Given the description of an element on the screen output the (x, y) to click on. 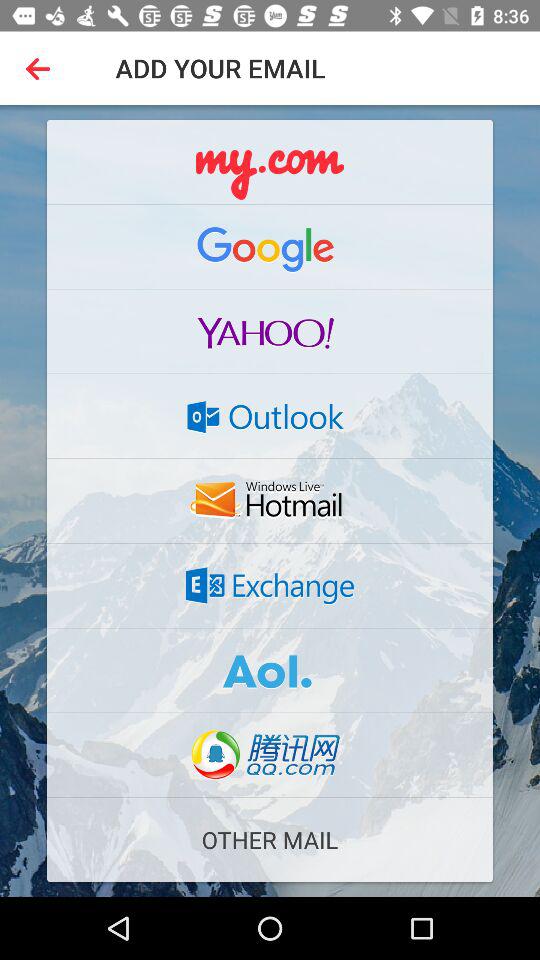
add qq email address (269, 755)
